Given the description of an element on the screen output the (x, y) to click on. 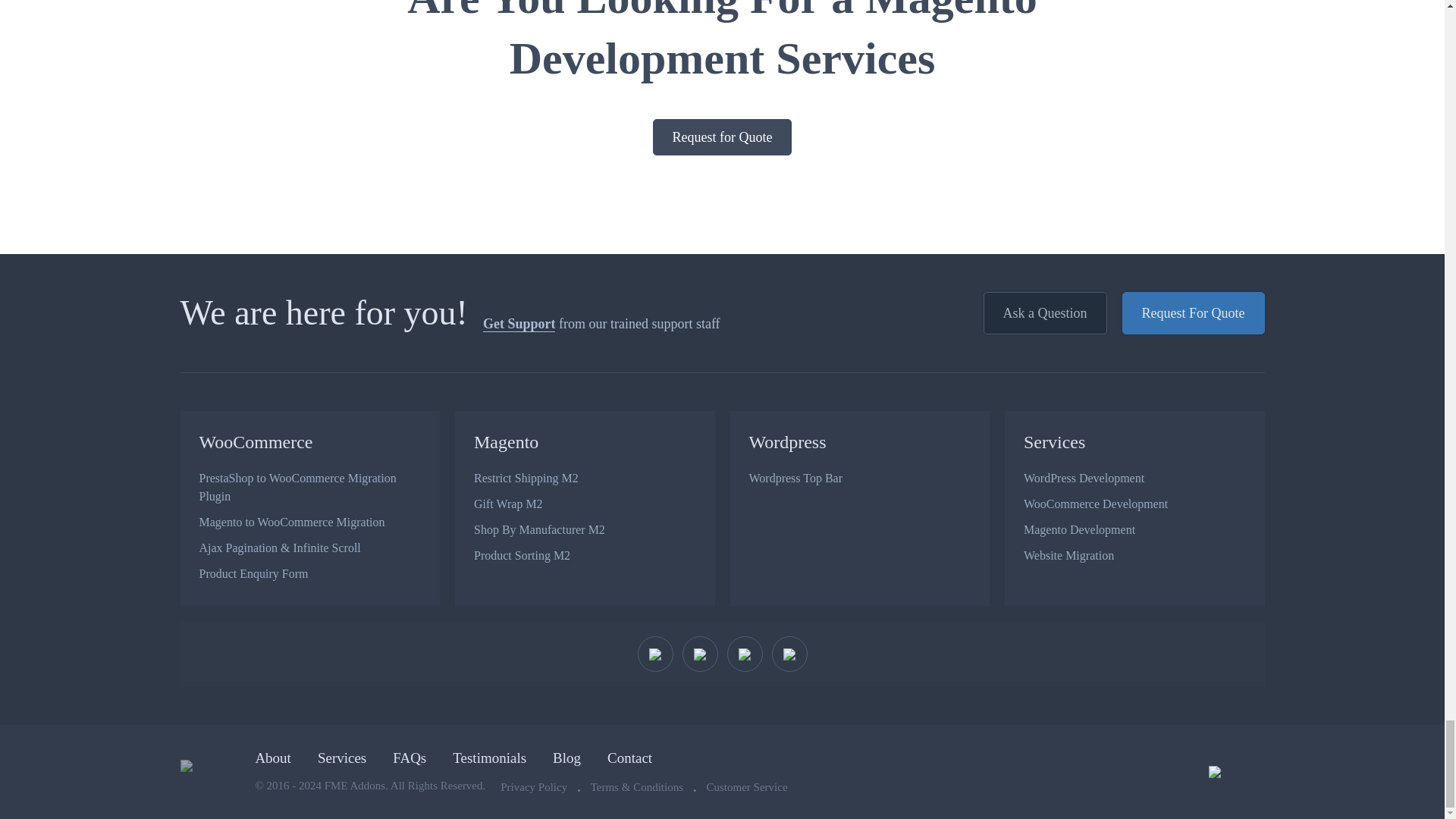
Magento to WooCommerce Migration (309, 522)
Request for Quote (722, 136)
Get Support (519, 324)
Website Migration (1134, 555)
WooCommerce Development (1134, 503)
Shop By Manufacturer M2 (584, 529)
Product Enquiry Form (309, 574)
Request For Quote (1193, 312)
Gift Wrap M2 (584, 503)
Restrict Shipping M2 (584, 478)
